Given the description of an element on the screen output the (x, y) to click on. 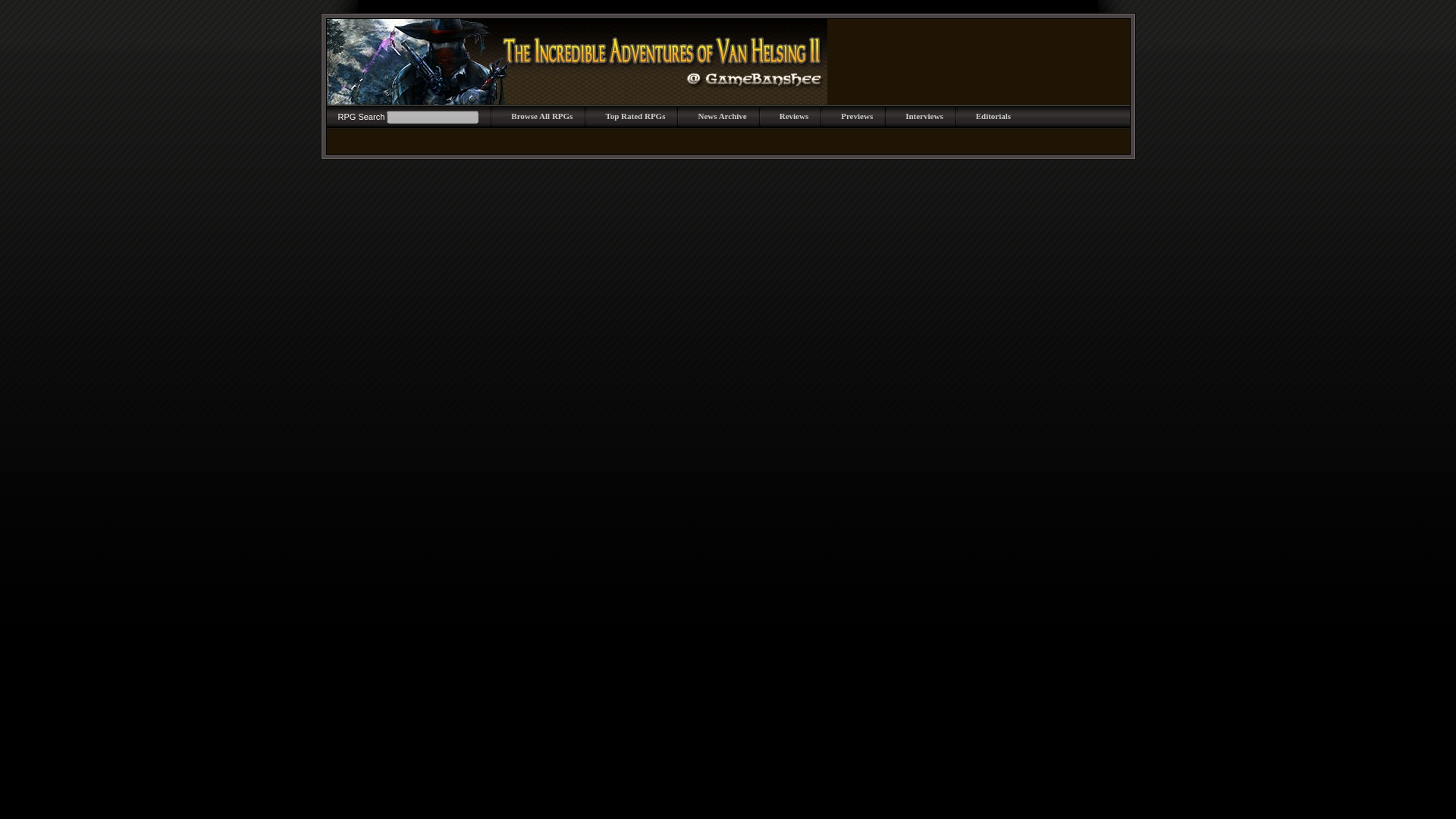
Browse All RPGs (541, 115)
News Archive (721, 115)
Reviews (793, 115)
Previews (856, 115)
Top Rated RPGs (635, 115)
Interviews (924, 115)
Editorials (992, 115)
